Given the description of an element on the screen output the (x, y) to click on. 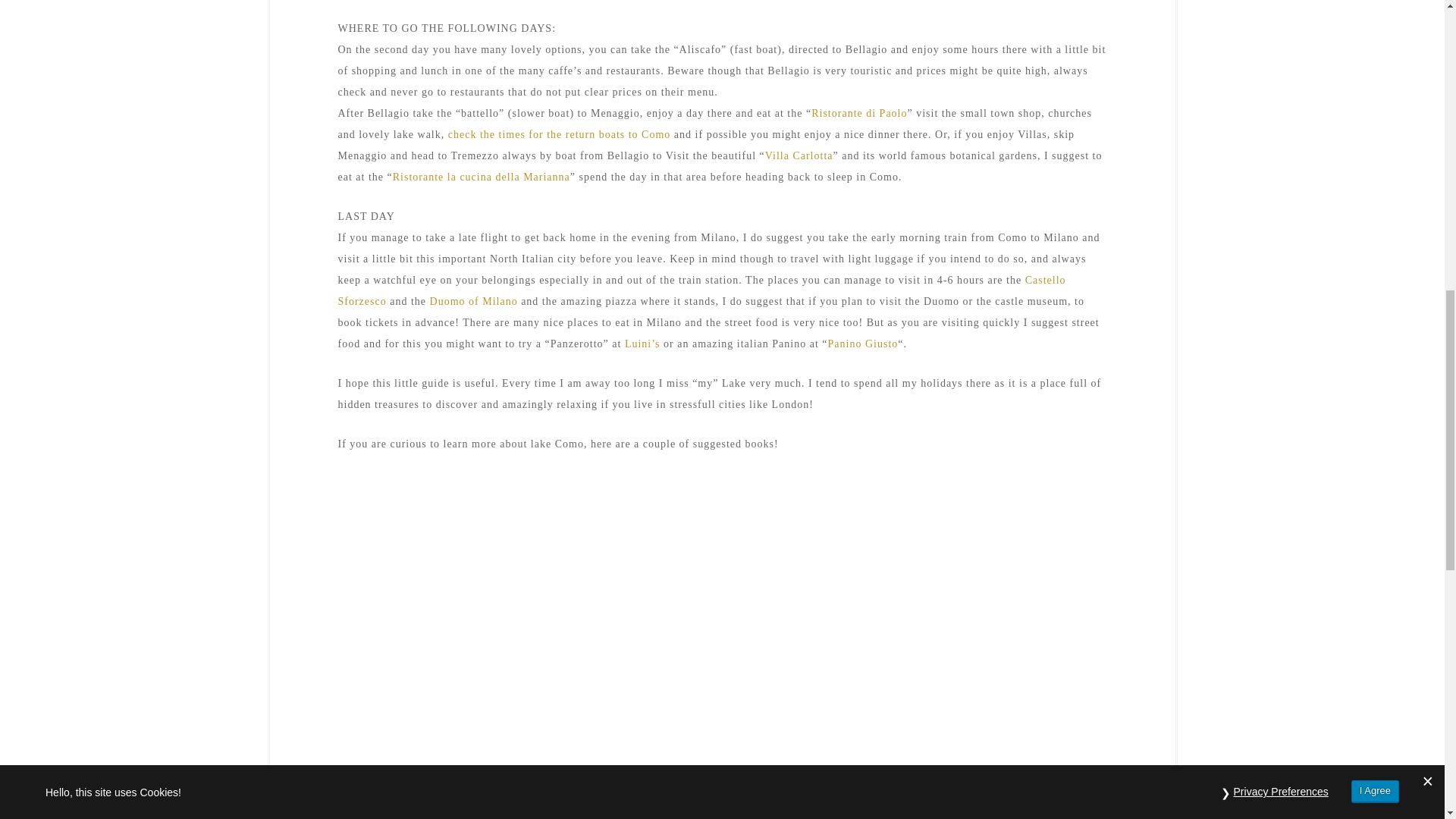
Panino Giusto (863, 343)
check the times for the return boats to Como (556, 134)
Duomo of Milano (473, 301)
Villa Carlotta (798, 155)
Ristorante di Paolo (858, 112)
Castello Sforzesco (701, 290)
Ristorante la cucina della Marianna (481, 176)
